Given the description of an element on the screen output the (x, y) to click on. 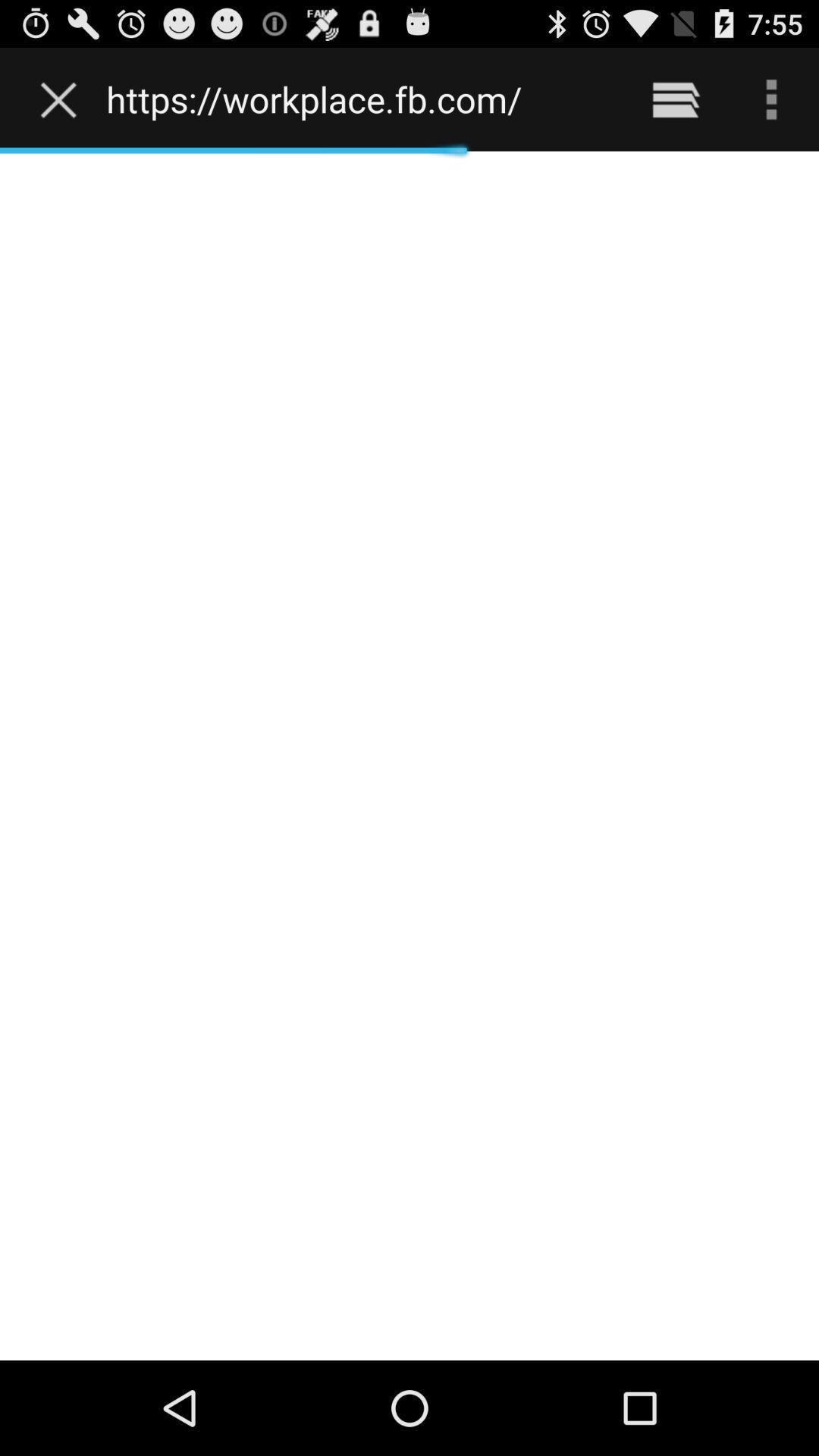
turn off item next to https workplace fb item (62, 99)
